Given the description of an element on the screen output the (x, y) to click on. 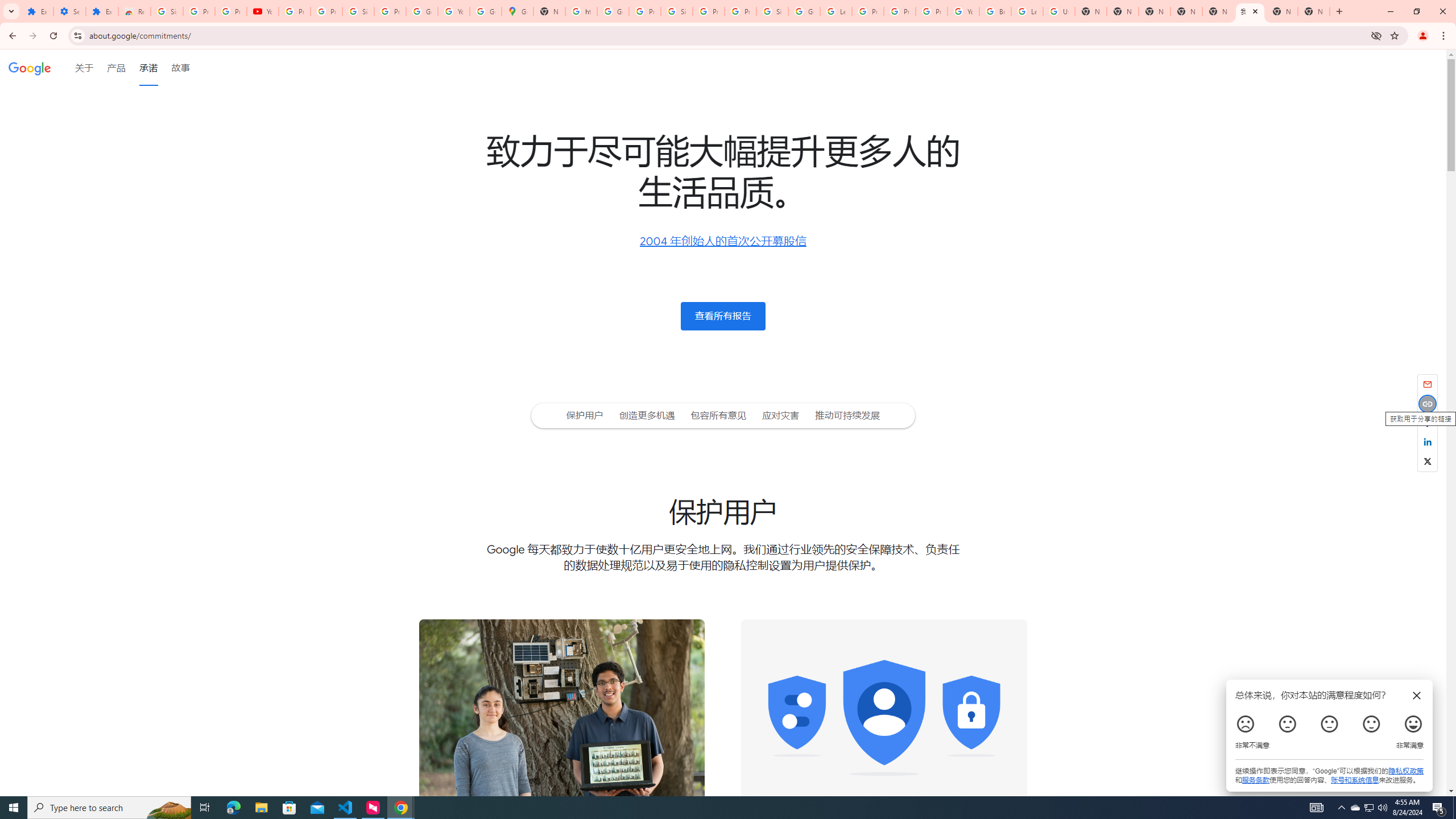
YouTube (453, 11)
Sign in - Google Accounts (358, 11)
https://scholar.google.com/ (581, 11)
